Given the description of an element on the screen output the (x, y) to click on. 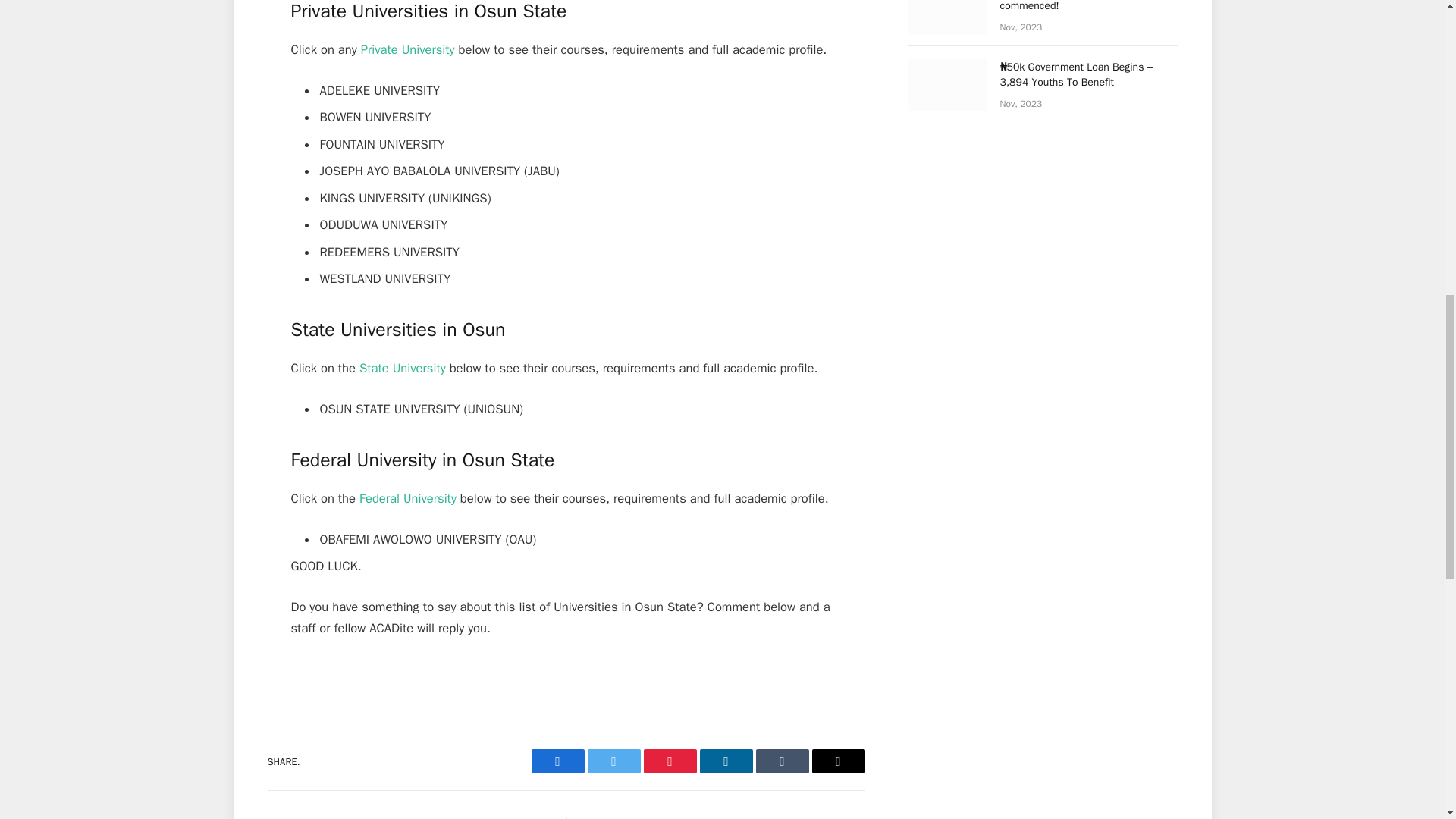
Share on Facebook (557, 761)
Facebook (557, 761)
State University (402, 367)
Share on LinkedIn (725, 761)
Federal University (408, 498)
Email (837, 761)
Share on Tumblr (781, 761)
Private University (407, 49)
Pinterest (669, 761)
Tumblr (781, 761)
Share via Email (837, 761)
LinkedIn (725, 761)
Share on Pinterest (669, 761)
Twitter (613, 761)
